Given the description of an element on the screen output the (x, y) to click on. 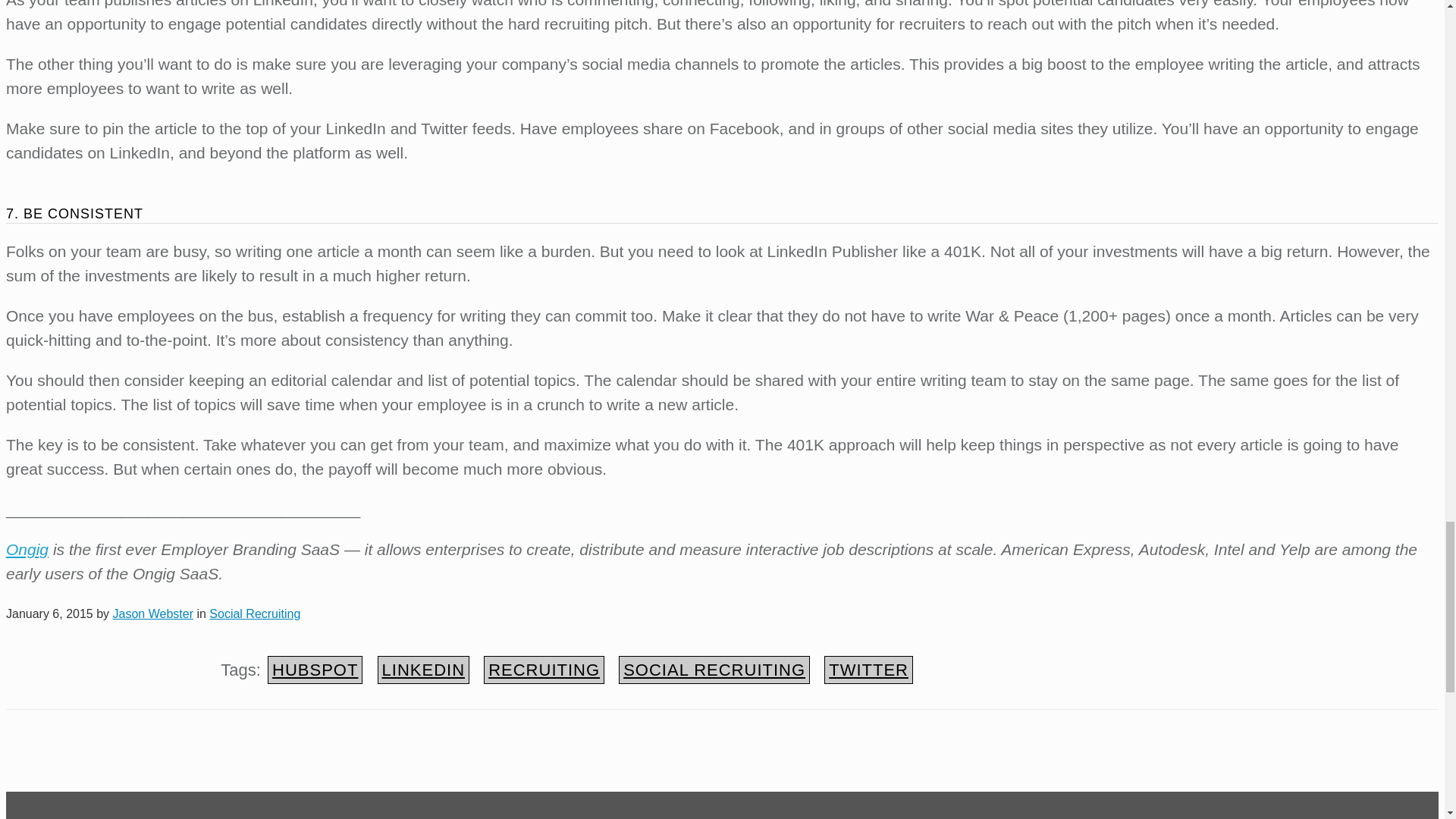
HUBSPOT (314, 669)
LINKEDIN (422, 669)
Social Recruiting (254, 613)
Ongig (26, 548)
Jason Webster (153, 613)
Posts by Jason Webster (153, 613)
RECRUITING (543, 669)
TWITTER (868, 669)
SOCIAL RECRUITING (713, 669)
